Given the description of an element on the screen output the (x, y) to click on. 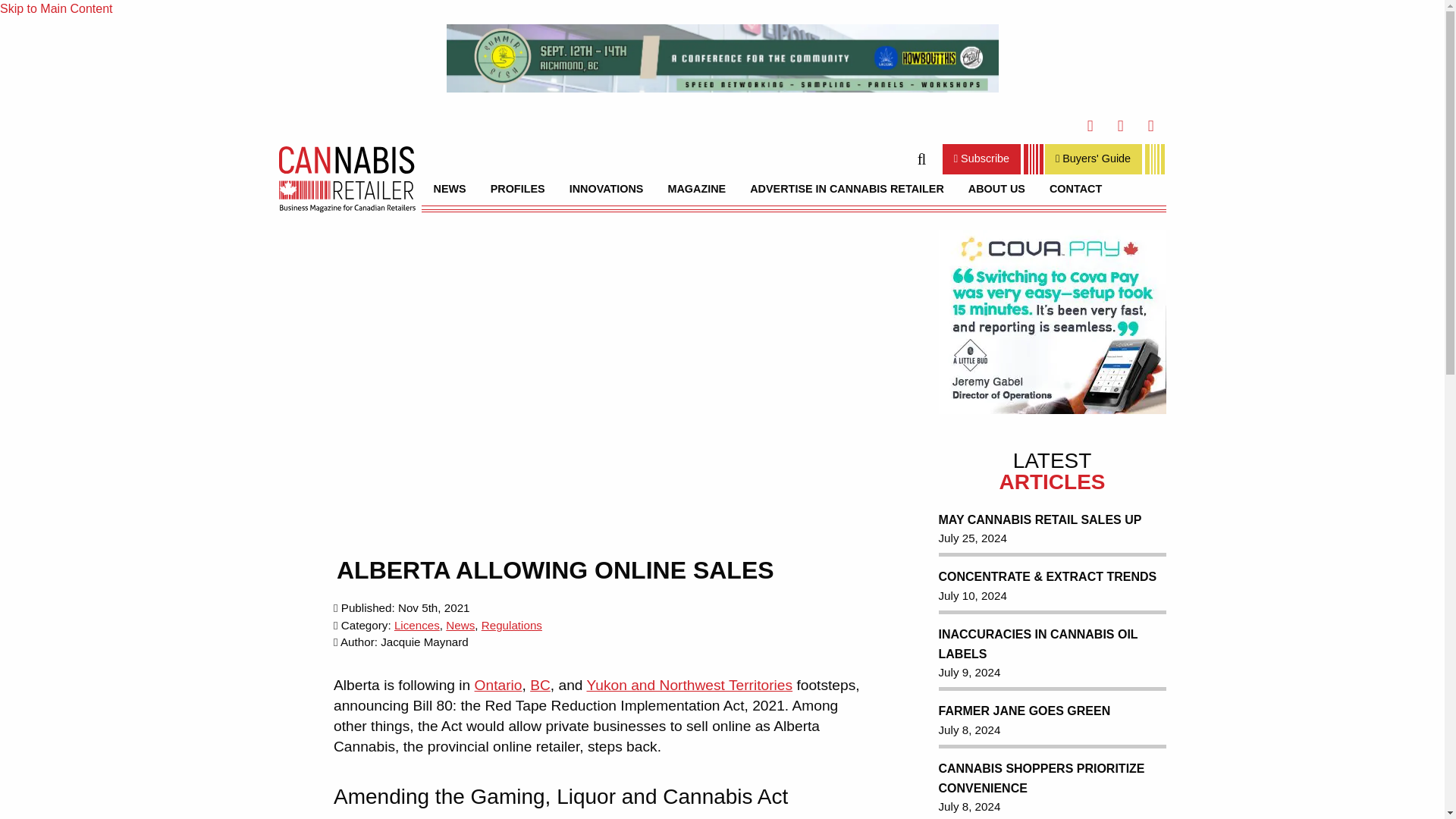
CONTACT (1074, 188)
Facebook (1090, 125)
Skip to Main Content (56, 8)
Twitter (1120, 125)
Search (920, 159)
INNOVATIONS (606, 188)
Licences (416, 625)
Search (1150, 159)
News (459, 625)
NEWS (450, 188)
